Given the description of an element on the screen output the (x, y) to click on. 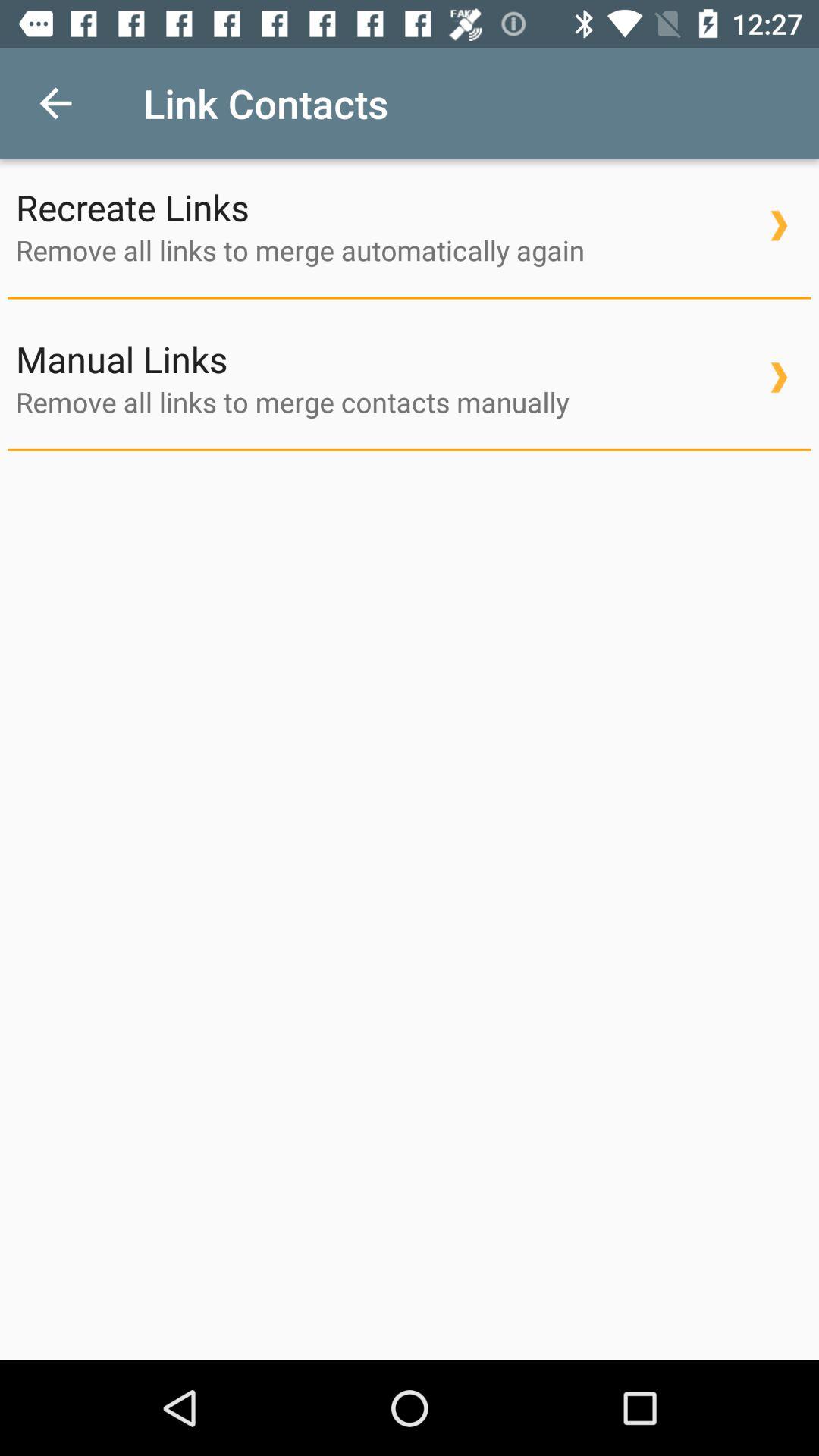
turn on the icon to the left of the link contacts icon (55, 103)
